Given the description of an element on the screen output the (x, y) to click on. 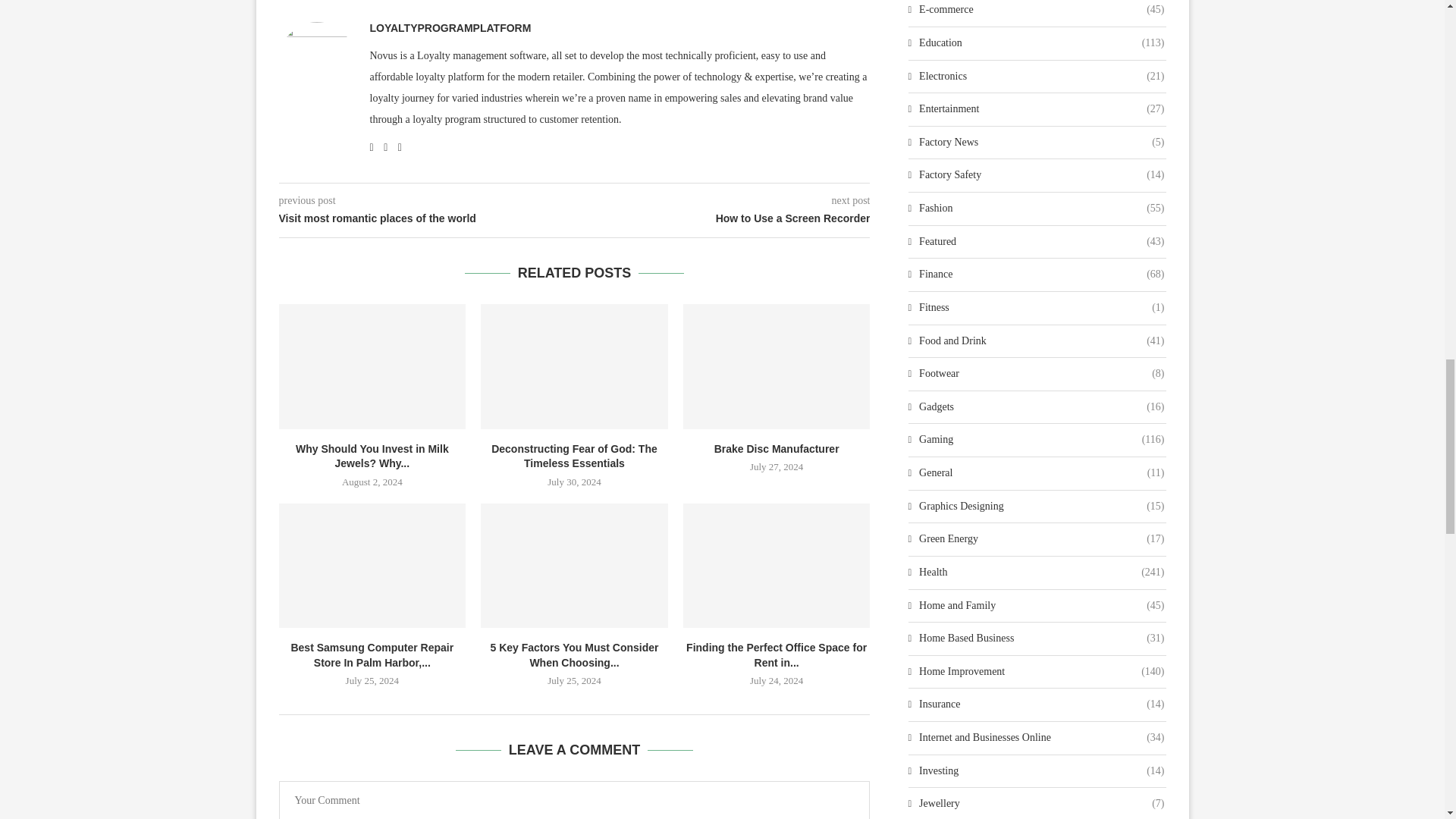
Author loyaltyprogramplatform (450, 28)
LOYALTYPROGRAMPLATFORM (450, 28)
How to Use a Screen Recorder (722, 218)
Brake Disc Manufacturer (776, 365)
Deconstructing Fear of God: The Timeless Essentials (574, 365)
Visit most romantic places of the world (427, 218)
Best Samsung Computer Repair Store In Palm Harbor, Florida (372, 565)
